Given the description of an element on the screen output the (x, y) to click on. 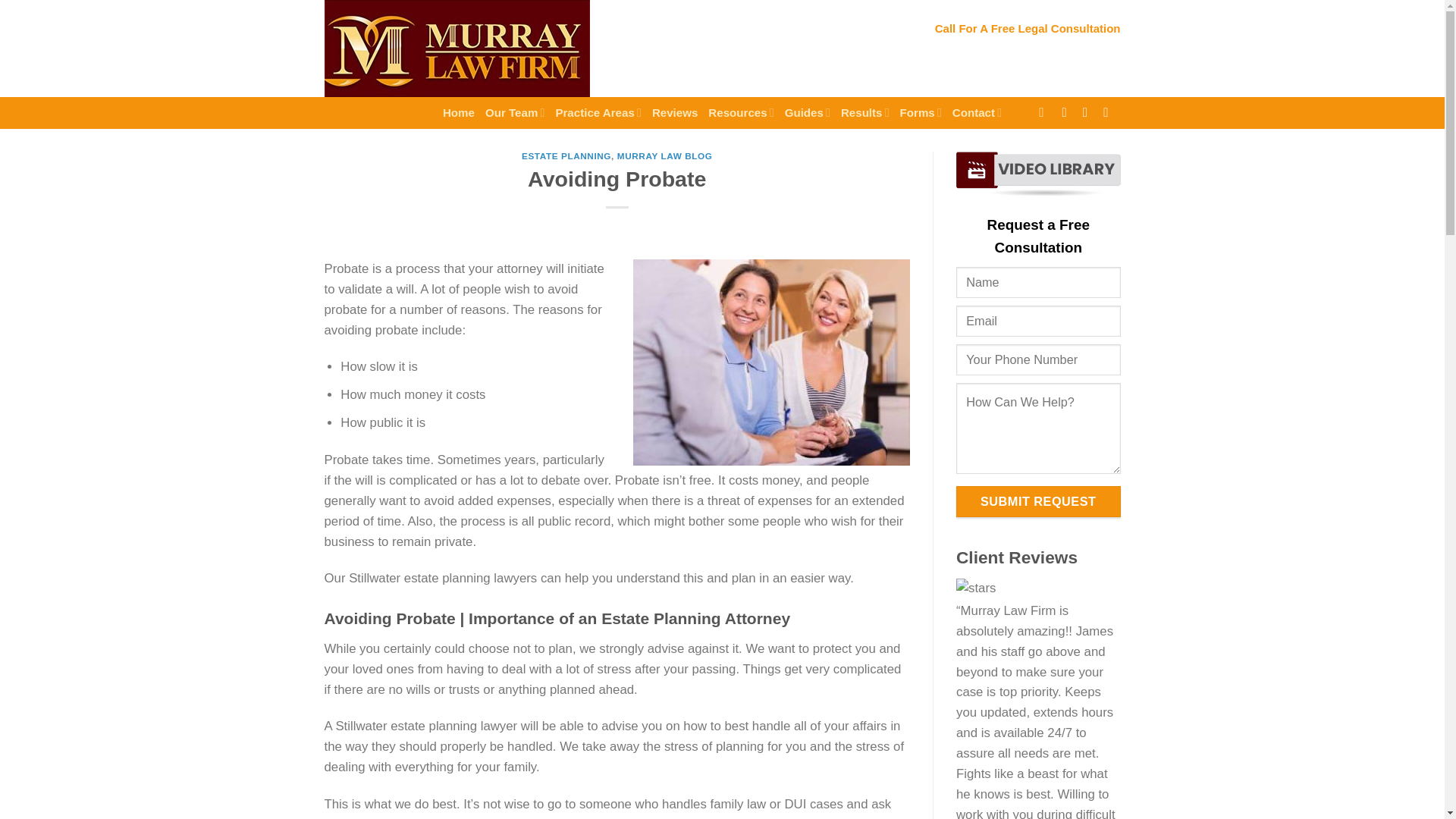
Call For A Free Legal Consultation (1027, 28)
Submit Request (1038, 501)
Reviews (674, 112)
Practice Areas (597, 112)
Our Team (514, 112)
Resources (740, 112)
Guides (806, 112)
Home (458, 112)
